Given the description of an element on the screen output the (x, y) to click on. 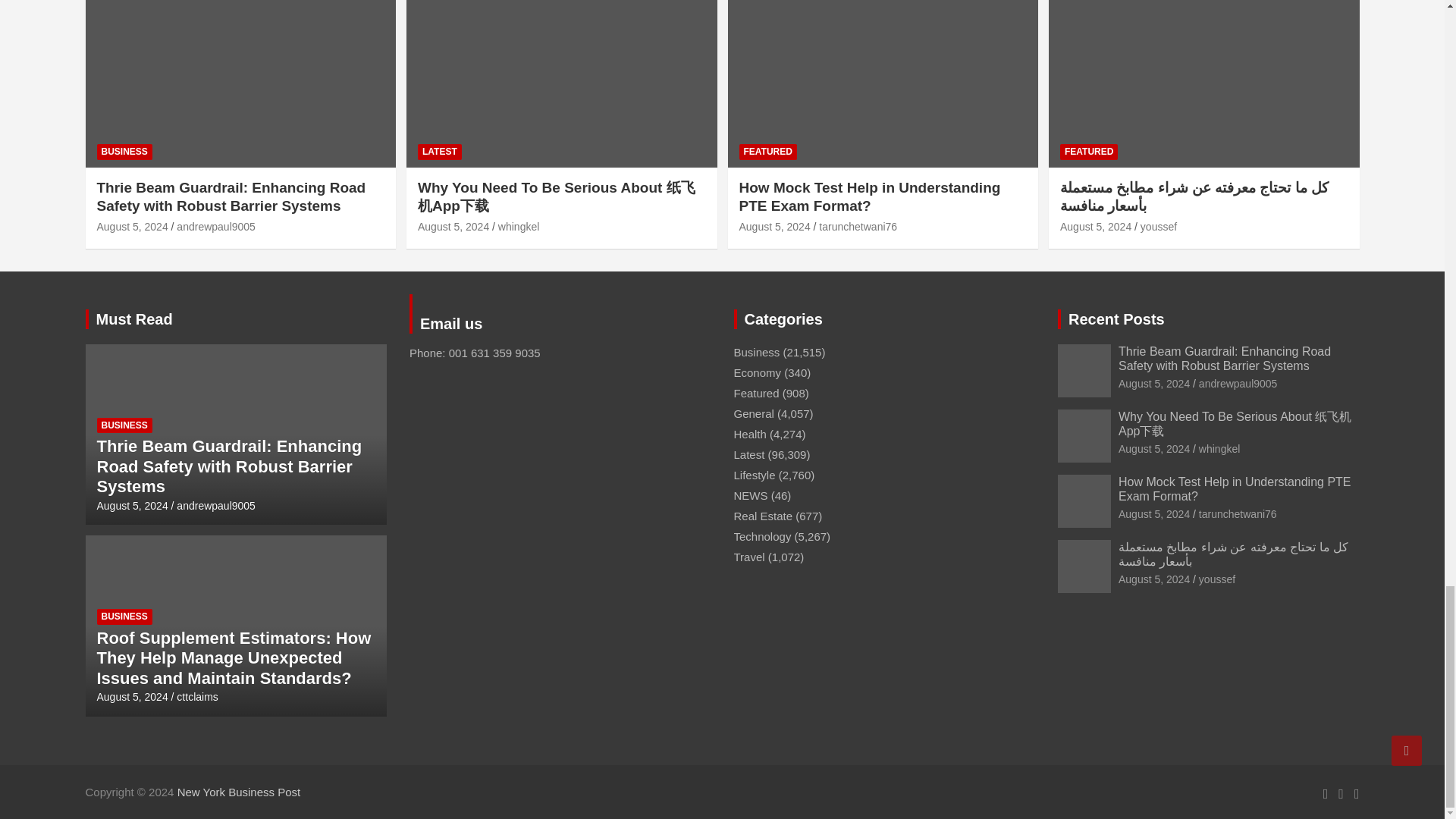
How Mock Test Help in Understanding PTE Exam Format? (773, 226)
